Given the description of an element on the screen output the (x, y) to click on. 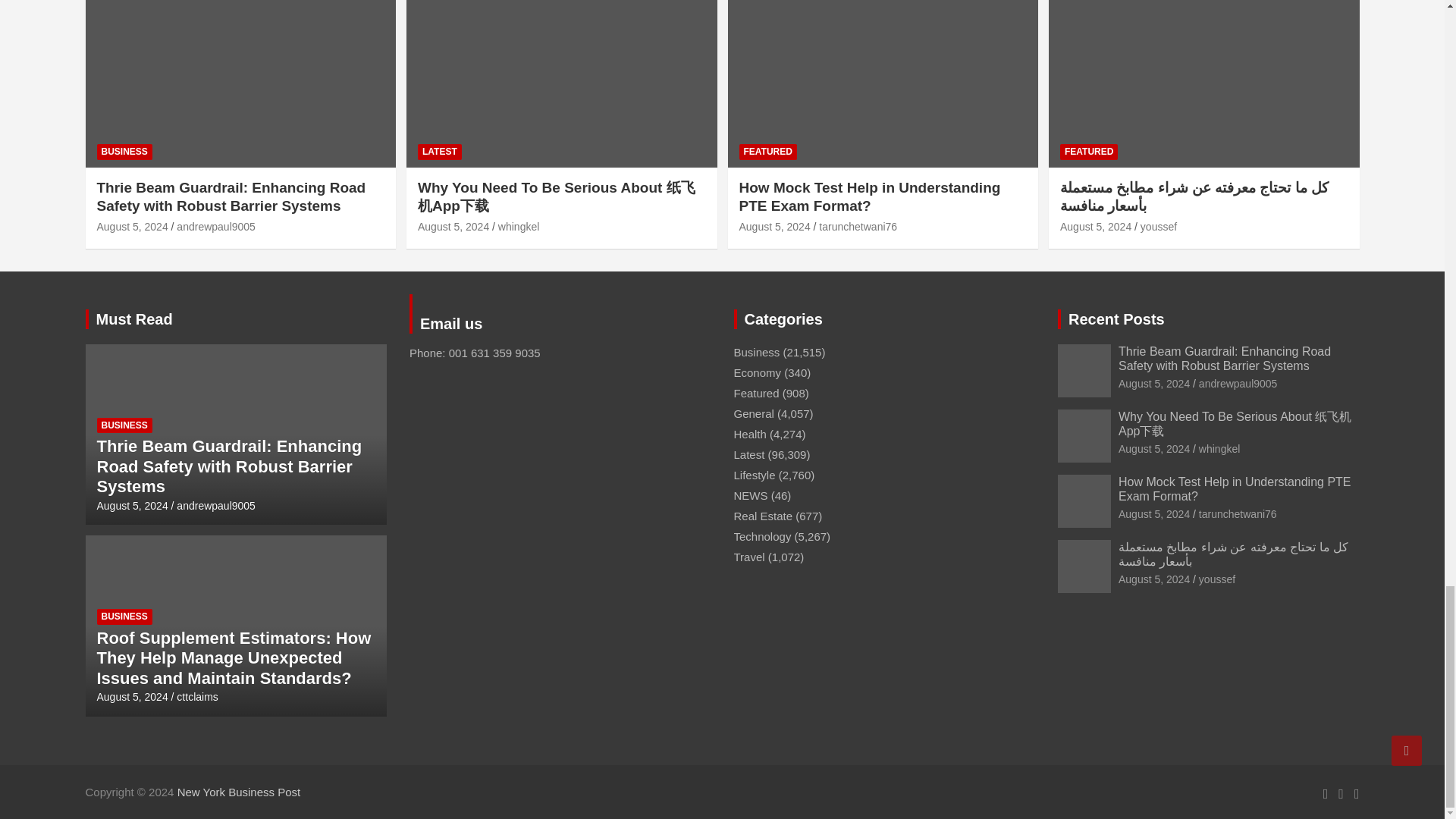
How Mock Test Help in Understanding PTE Exam Format? (773, 226)
